Given the description of an element on the screen output the (x, y) to click on. 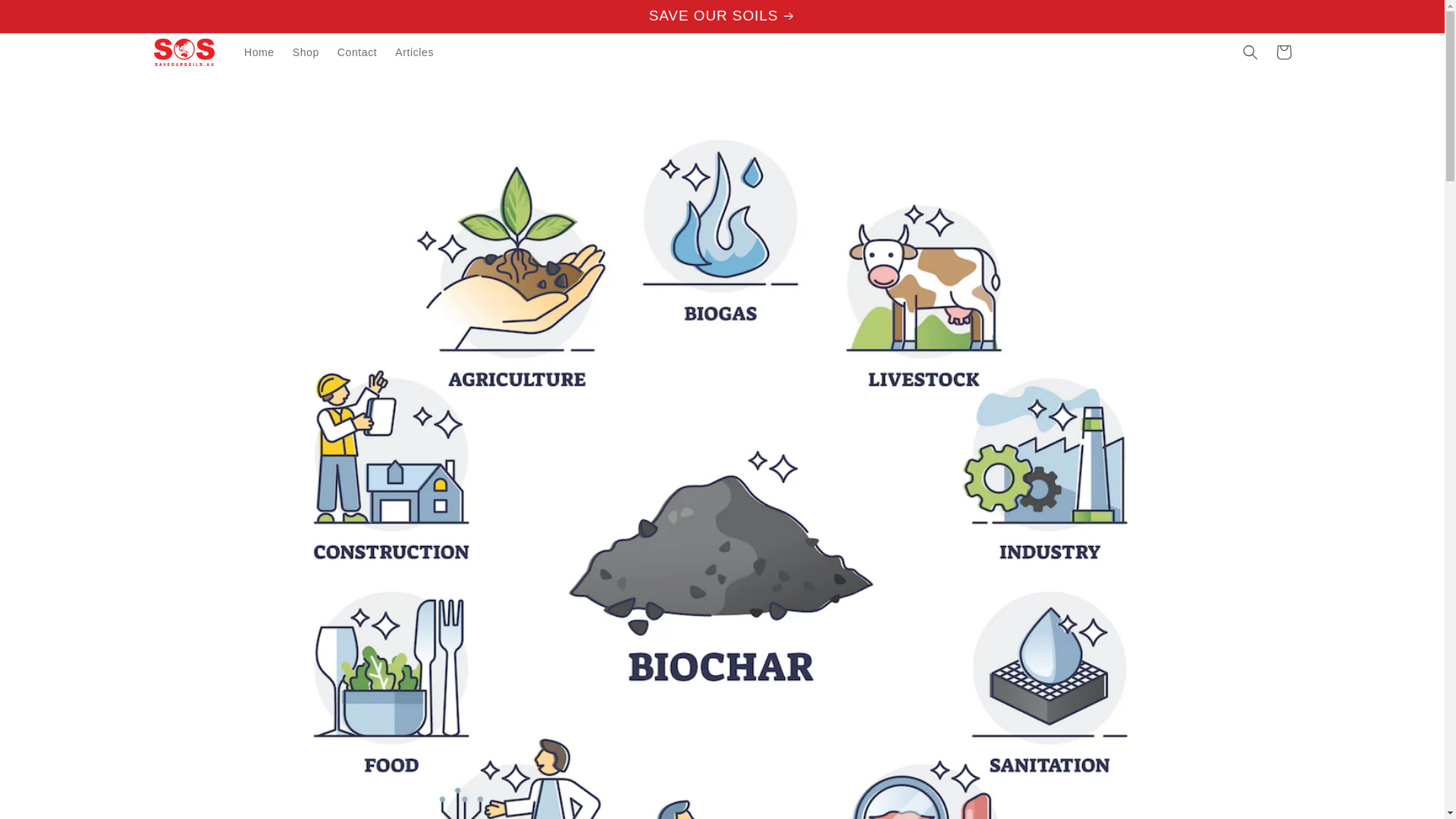
Articles (413, 51)
Shop (306, 51)
Home (258, 51)
Contact (357, 51)
